Given the description of an element on the screen output the (x, y) to click on. 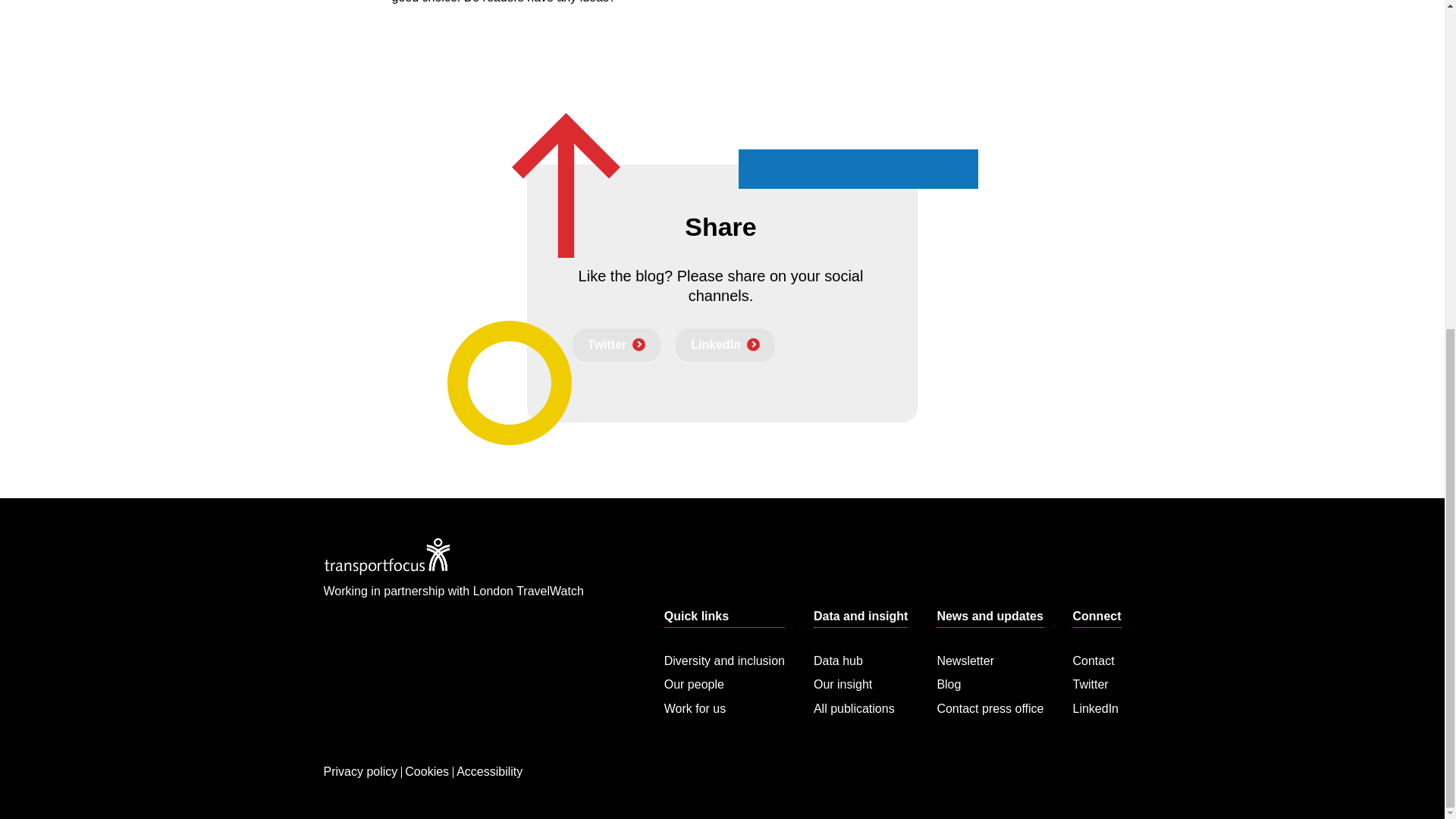
Twitter (1096, 680)
Our insight (860, 680)
Our people (723, 680)
Contact press office (989, 703)
Data hub (860, 661)
Accessibility (488, 747)
LinkedIn (1096, 703)
Contact (1096, 661)
Newsletter (989, 661)
Work for us (723, 703)
Diversity and inclusion (723, 661)
Working in partnership with London TravelWatch (453, 587)
Twitter (616, 344)
Blog (989, 680)
Privacy policy (360, 747)
